Given the description of an element on the screen output the (x, y) to click on. 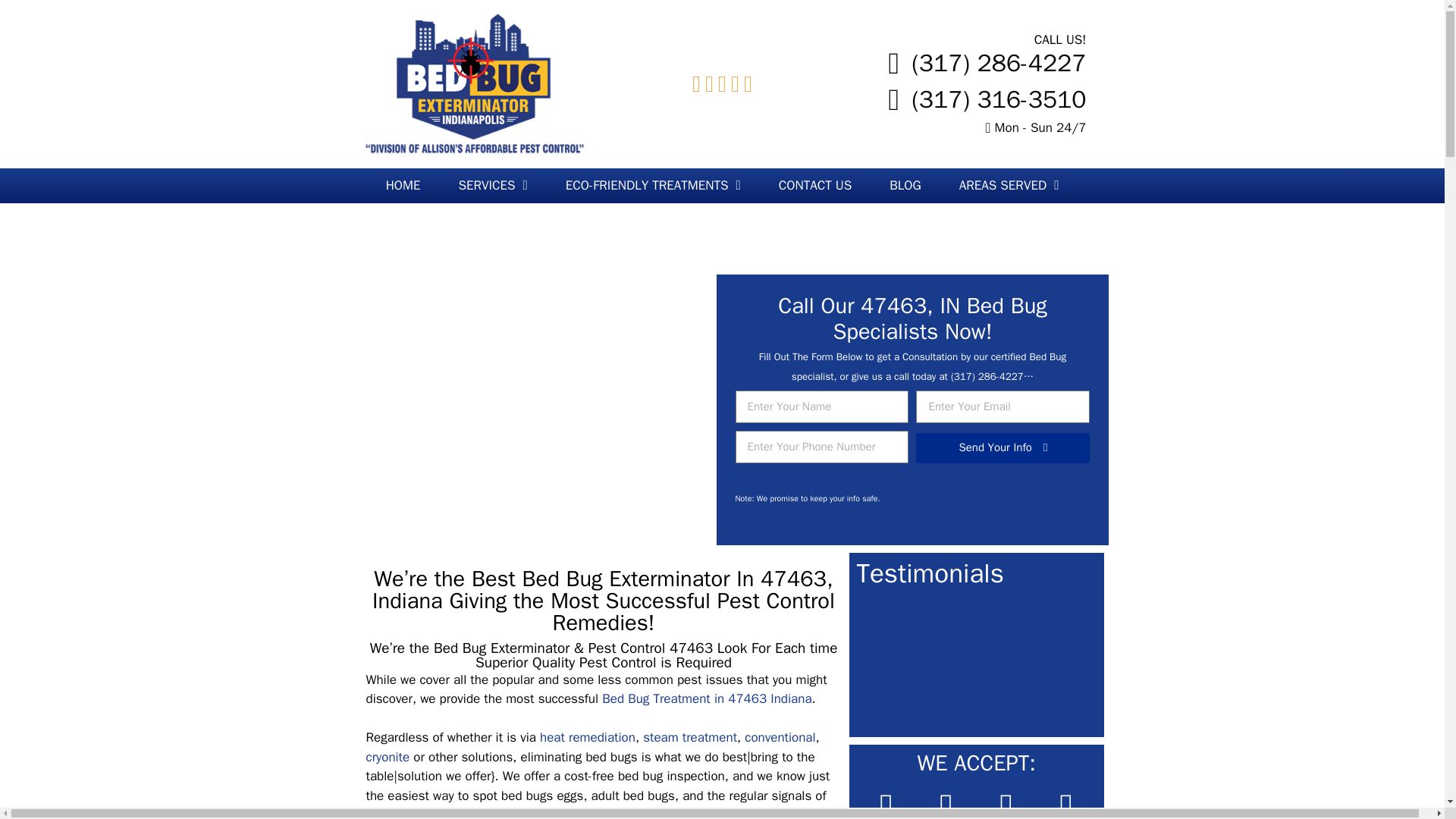
ECO-FRIENDLY TREATMENTS (653, 185)
HOME (402, 185)
SERVICES (493, 185)
CONTACT US (815, 185)
AREAS SERVED (1009, 185)
BLOG (904, 185)
